Given the description of an element on the screen output the (x, y) to click on. 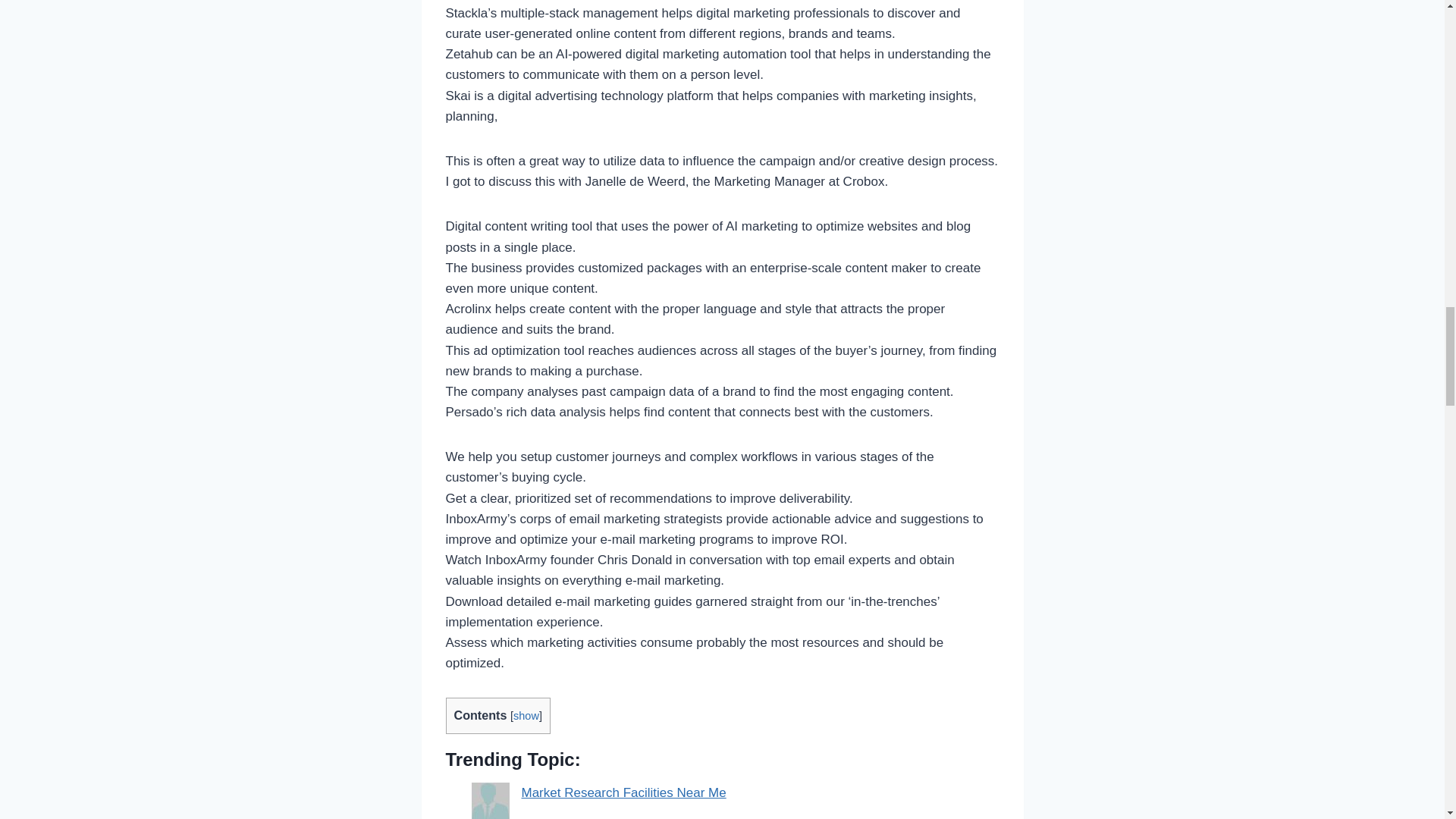
show (525, 715)
Market Research Facilities Near Me (623, 792)
